Given the description of an element on the screen output the (x, y) to click on. 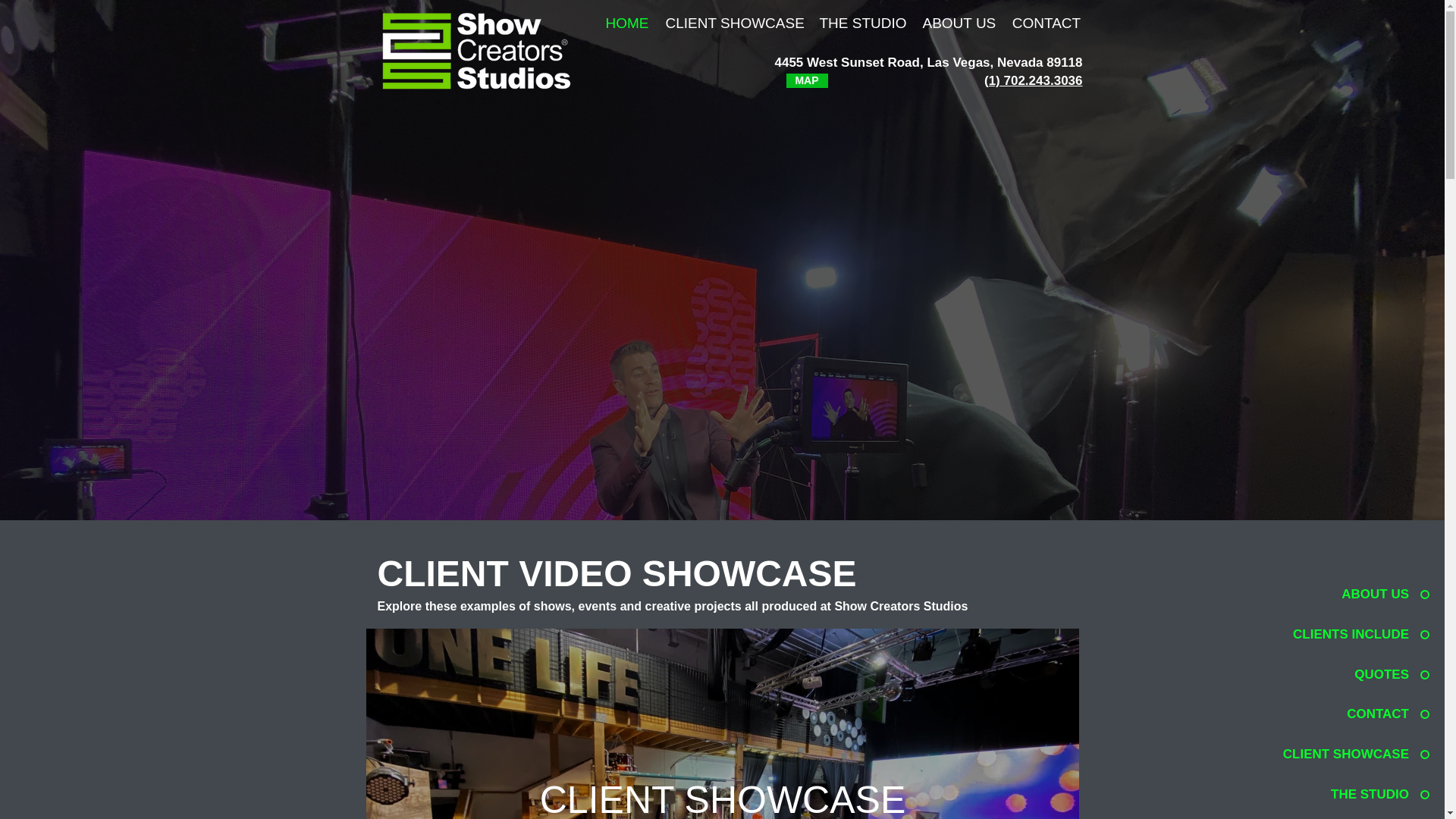
CLIENT SHOWCASE (733, 23)
THE STUDIO (1344, 794)
CLIENT SHOWCASE (1344, 754)
QUOTES (1344, 674)
HOME (627, 23)
MAP (806, 80)
THE STUDIO (862, 23)
ABOUT US (1344, 594)
CONTACT (1046, 23)
ABOUT US (959, 23)
CLIENT SHOWCASE (721, 797)
CLIENTS INCLUDE (1344, 634)
CONTACT (1344, 714)
